Given the description of an element on the screen output the (x, y) to click on. 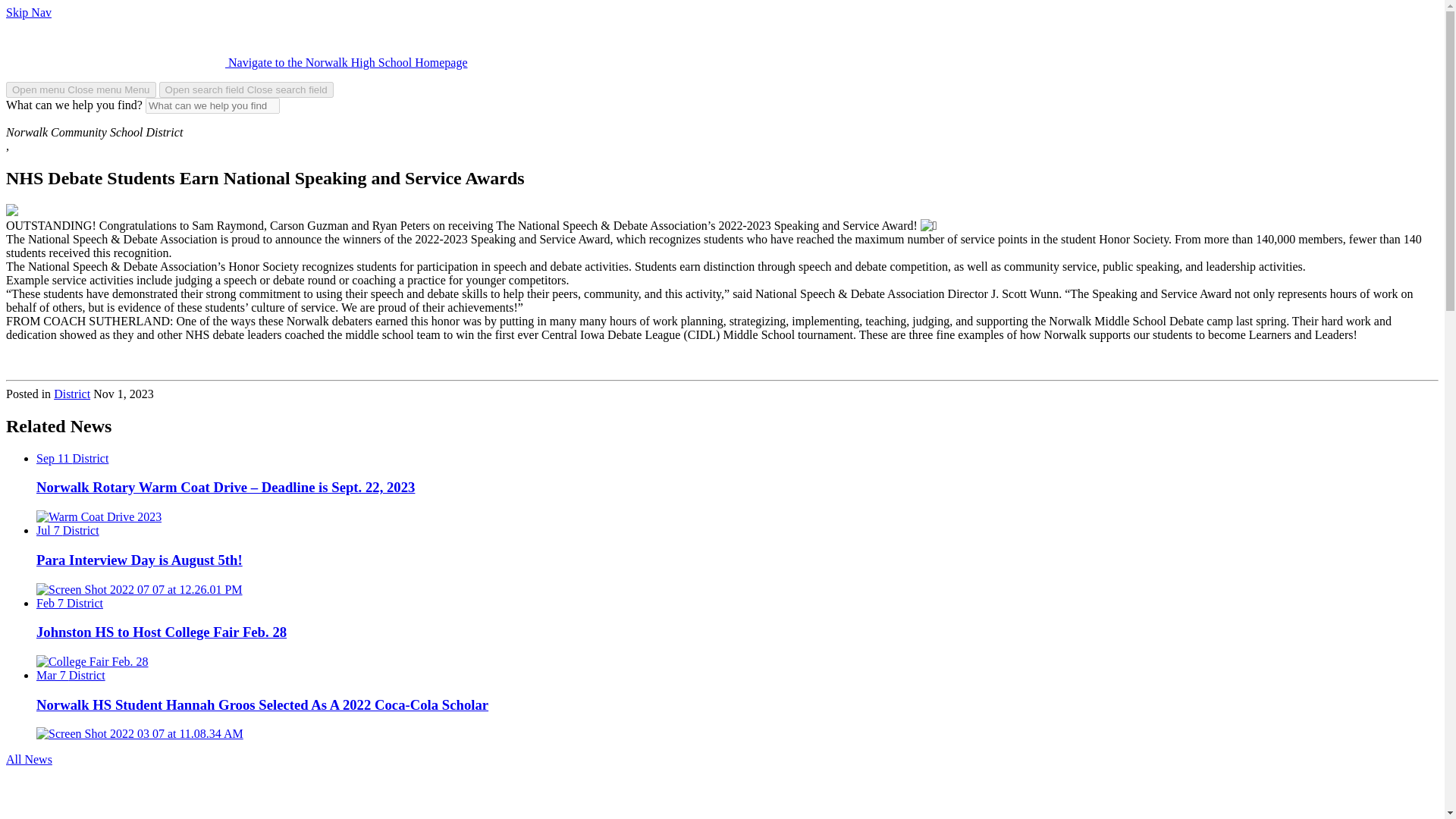
Norwalk High School Logo (115, 42)
District (71, 393)
Skip Nav (27, 11)
All News (28, 758)
Open menu Close menu Menu (80, 89)
Open search field Close search field (245, 89)
